Given the description of an element on the screen output the (x, y) to click on. 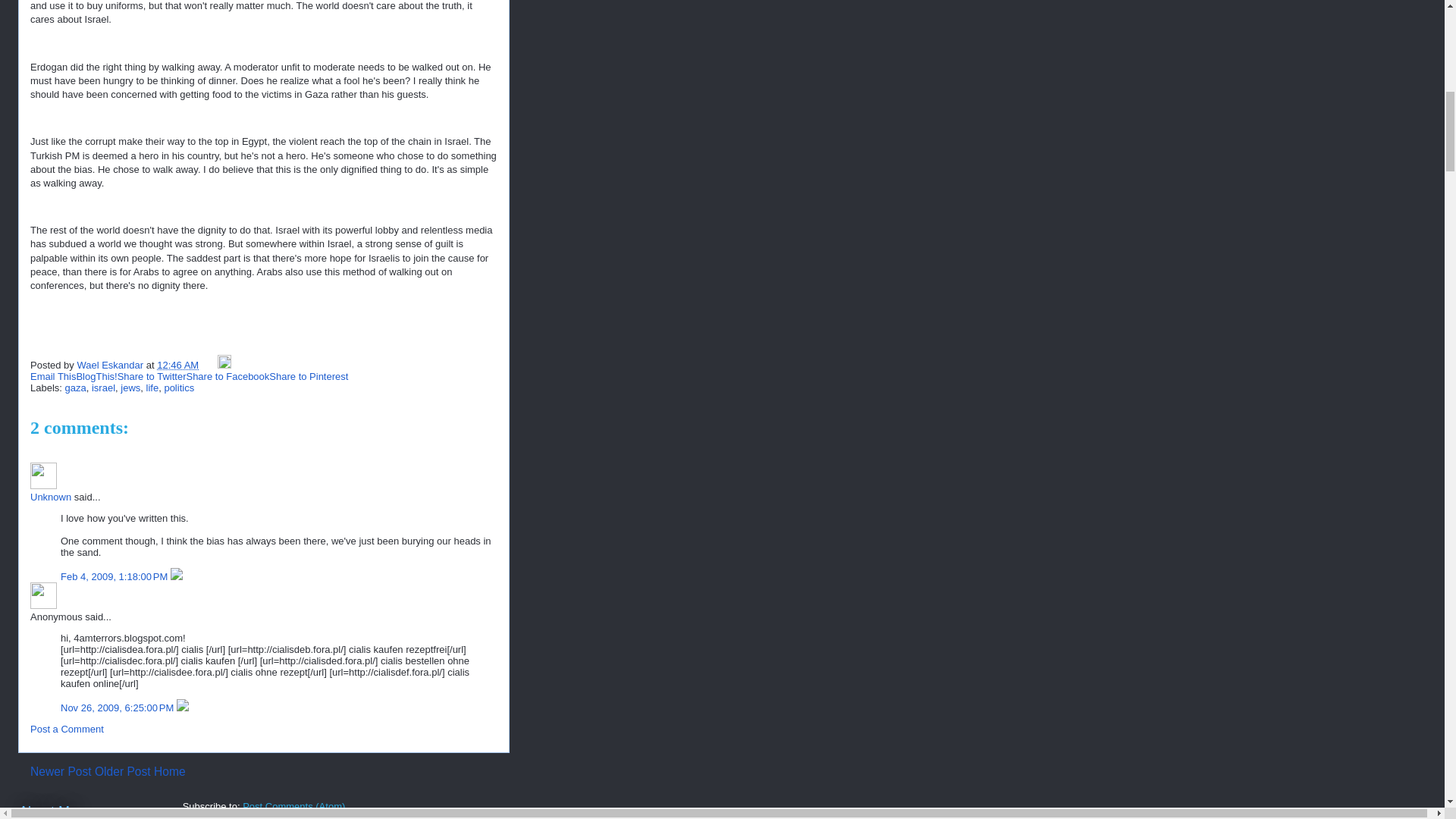
author profile (111, 365)
Edit Post (223, 365)
comment permalink (118, 707)
comment permalink (115, 576)
Email This (52, 376)
jews (129, 387)
Post a Comment (66, 728)
israel (103, 387)
Home (170, 771)
Share to Pinterest (308, 376)
Unknown (43, 475)
Newer Post (60, 771)
Wael Eskandar (111, 365)
Share to Facebook (227, 376)
permanent link (177, 365)
